Given the description of an element on the screen output the (x, y) to click on. 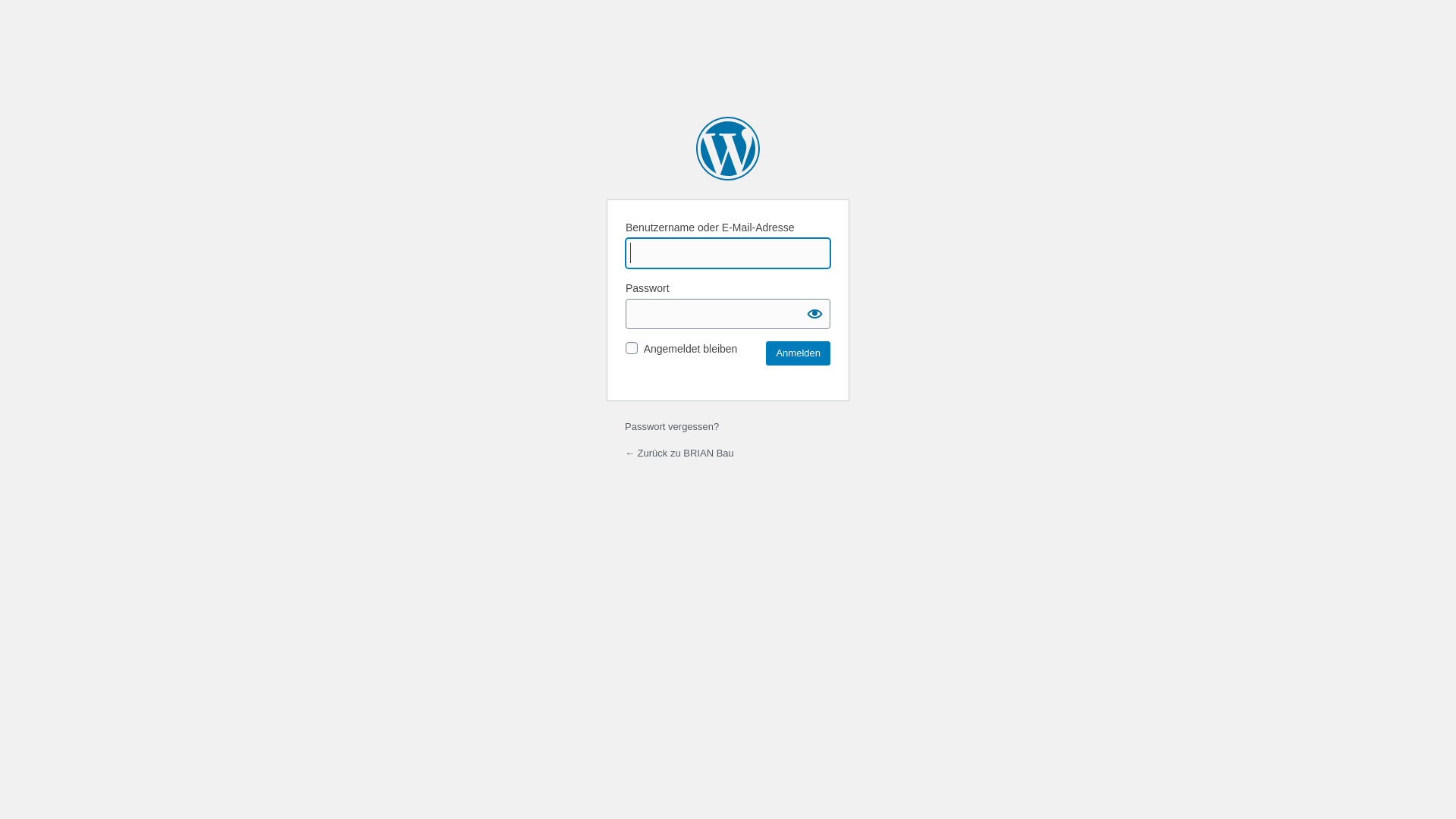
Powered by WordPress Element type: text (727, 148)
Passwort vergessen? Element type: text (671, 426)
Anmelden Element type: text (797, 353)
